Given the description of an element on the screen output the (x, y) to click on. 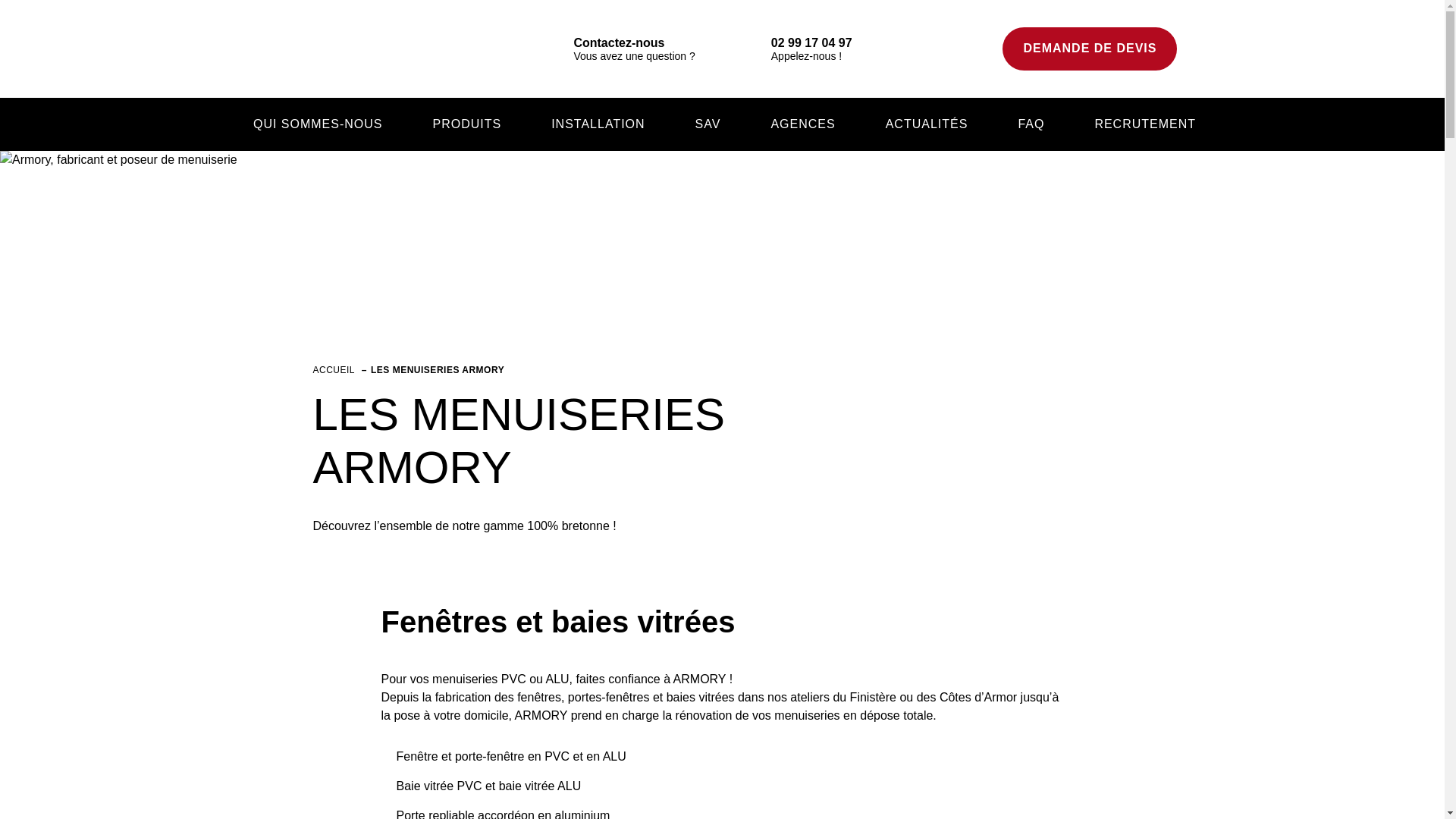
FAQ Element type: text (1028, 123)
SAV Element type: text (705, 123)
RECRUTEMENT Element type: text (1142, 123)
02 99 17 04 97
Appelez-nous ! Element type: text (796, 48)
INSTALLATION Element type: text (595, 123)
Contactez-nous
Vous avez une question ? Element type: text (618, 48)
QUI SOMMES-NOUS Element type: text (315, 123)
AGENCES Element type: text (800, 123)
PRODUITS Element type: text (464, 123)
Armory Element type: text (323, 48)
ACCUEIL Element type: text (333, 369)
DEMANDE DE DEVIS Element type: text (1089, 48)
